Given the description of an element on the screen output the (x, y) to click on. 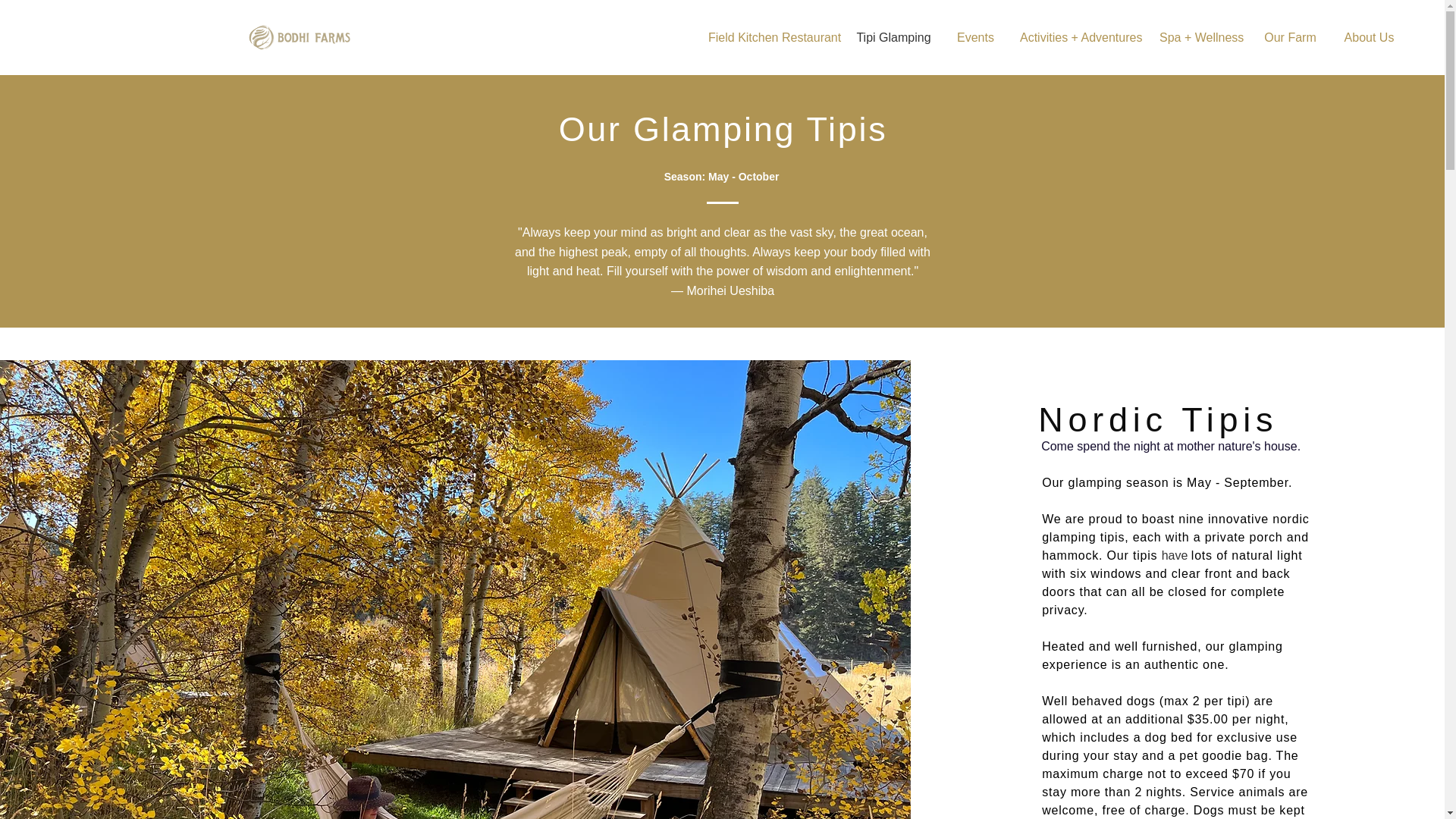
Field Kitchen Restaurant (770, 37)
Events (975, 37)
Tipi Glamping (893, 37)
Our Farm (1290, 37)
About Us (1368, 37)
